Given the description of an element on the screen output the (x, y) to click on. 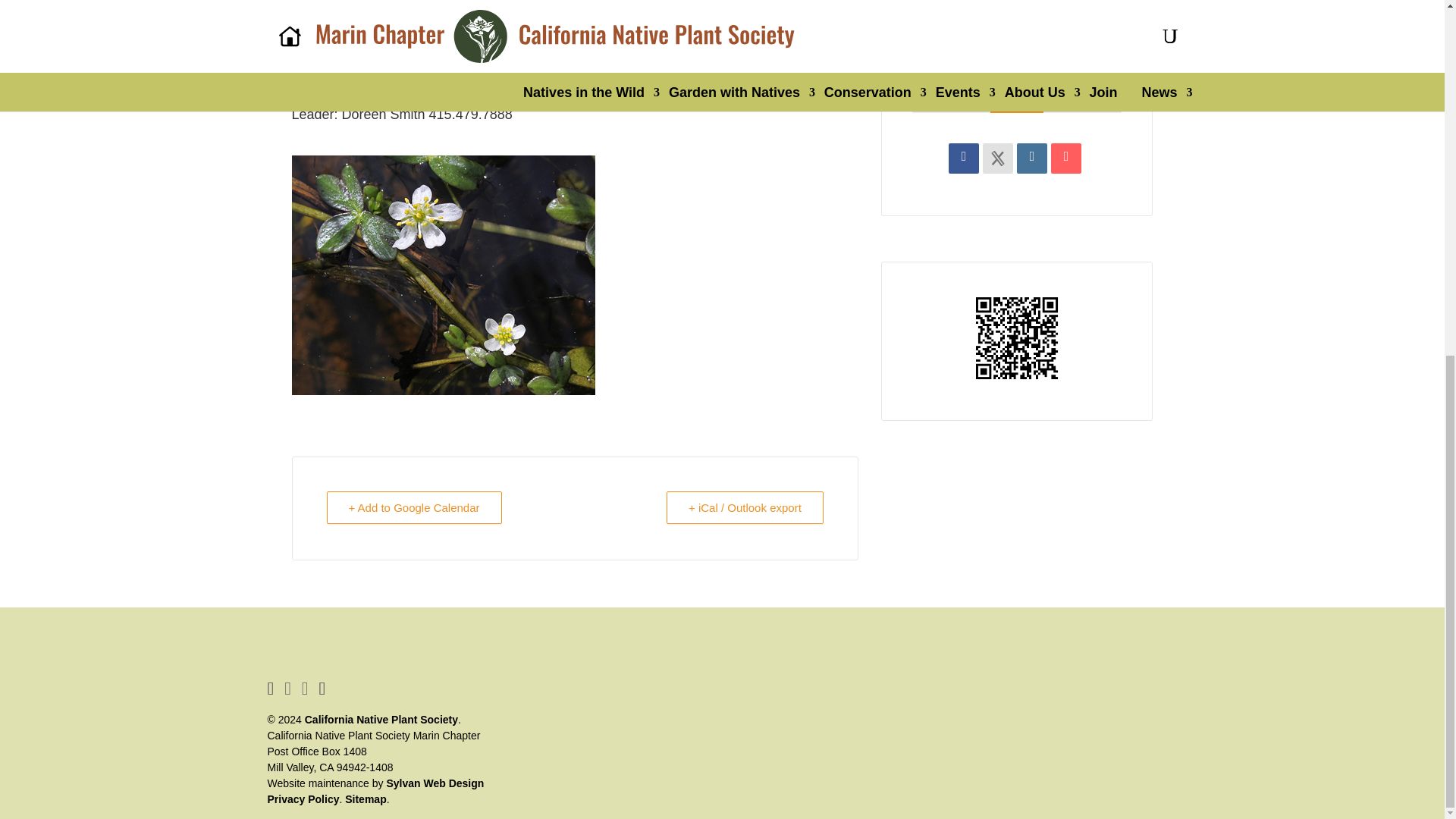
X Social Network (997, 158)
Email (1066, 158)
Share on Facebook (963, 158)
Linkedin (1031, 158)
